Given the description of an element on the screen output the (x, y) to click on. 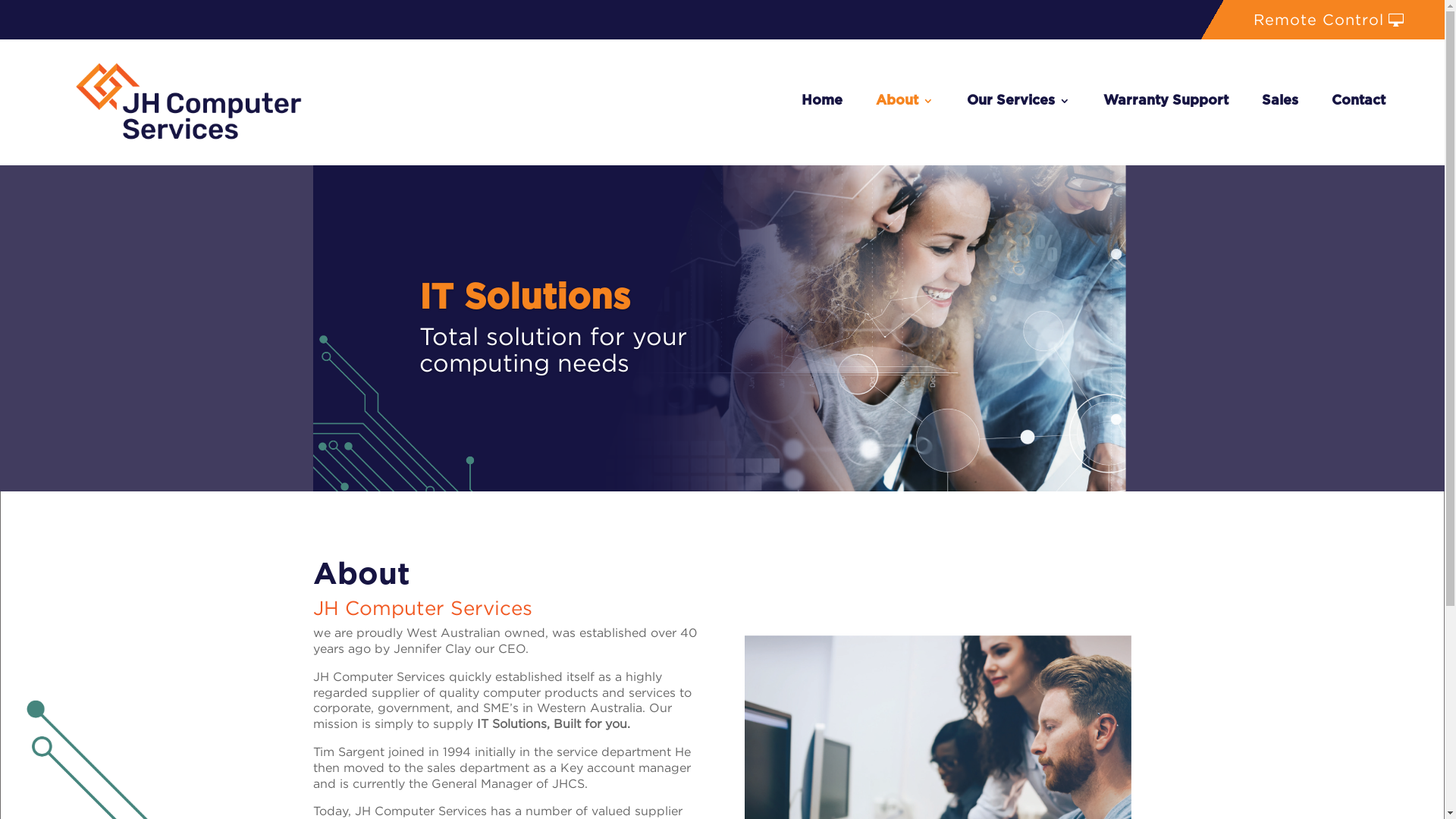
Warranty Support Element type: text (1165, 100)
Contact Element type: text (1358, 100)
Remote Control Element type: text (1318, 19)
Home Element type: text (821, 100)
About Element type: text (904, 100)
Sales Element type: text (1279, 100)
Our Services Element type: text (1018, 100)
